Given the description of an element on the screen output the (x, y) to click on. 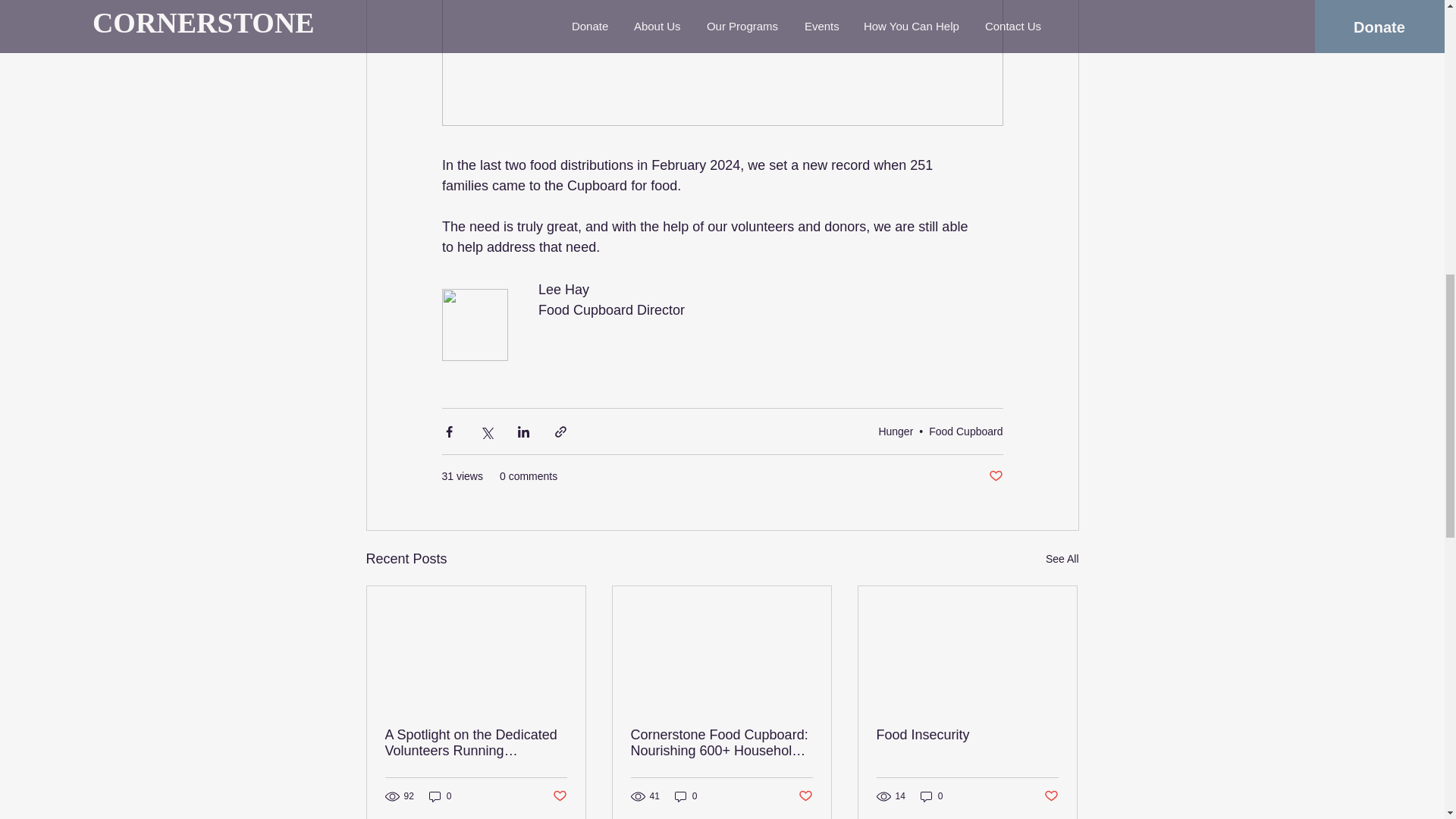
Post not marked as liked (995, 476)
Post not marked as liked (558, 796)
Food Cupboard (965, 431)
0 (440, 796)
See All (1061, 558)
Hunger (894, 431)
